Given the description of an element on the screen output the (x, y) to click on. 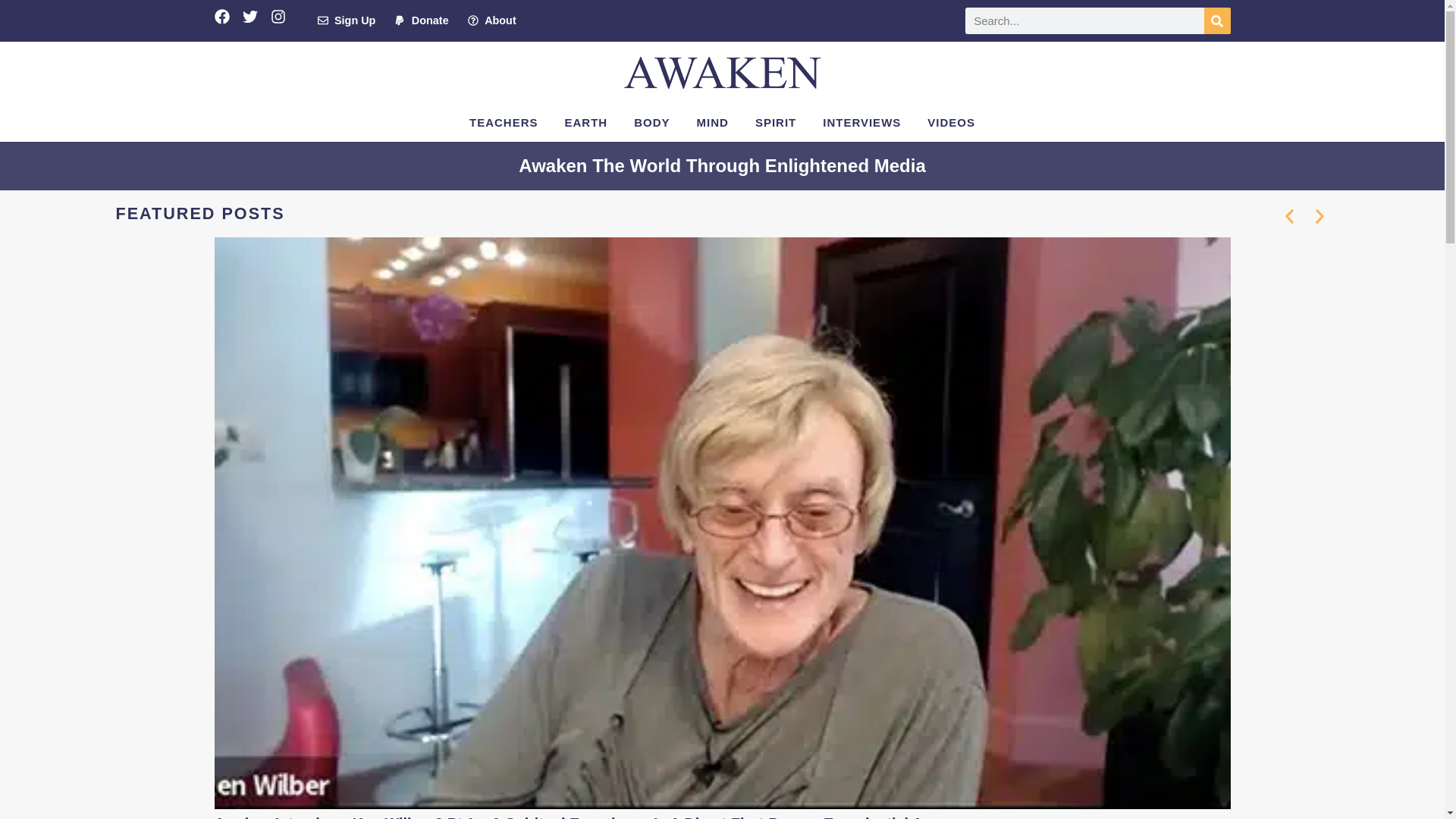
Sign Up (346, 21)
SPIRIT (776, 122)
BODY (652, 122)
MIND (712, 122)
About (491, 21)
EARTH (586, 122)
TEACHERS (504, 122)
Donate (421, 21)
